Given the description of an element on the screen output the (x, y) to click on. 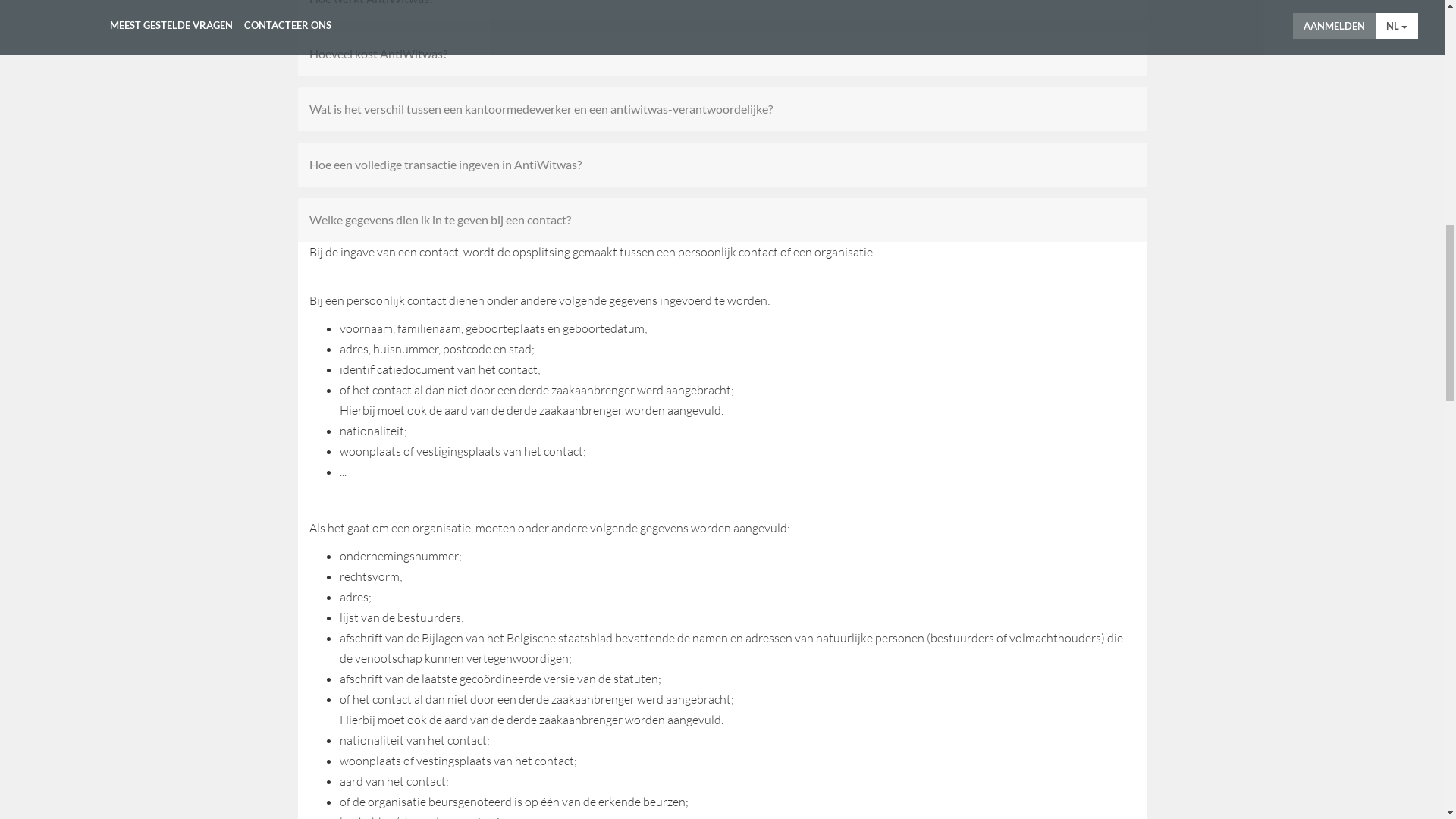
Aanmelden/Registreren Element type: text (491, 387)
Alle Element type: text (318, 387)
Waarom gebruik maken van AntiWitwas? Element type: text (722, 550)
Ik ben geen BIV-lid, kan ik AntiWitwas gebruiken? Element type: text (722, 772)
Algemeen Element type: text (379, 387)
Gebruik Element type: text (599, 387)
In welke talen is AntiWitwas beschikbaar? Element type: text (722, 606)
Hoe kan ik aanmelden/registeren bij AntiWitwas? Element type: text (722, 716)
Waar vind ik meer informatie rond de Antiwitwas-wetgeving? Element type: text (722, 661)
Wie kan AntiWitwas gebruiken? Element type: text (722, 495)
Wat is AntiWitwas? Element type: text (722, 440)
Meest voorkomende foutmeldingen Element type: text (738, 387)
